Given the description of an element on the screen output the (x, y) to click on. 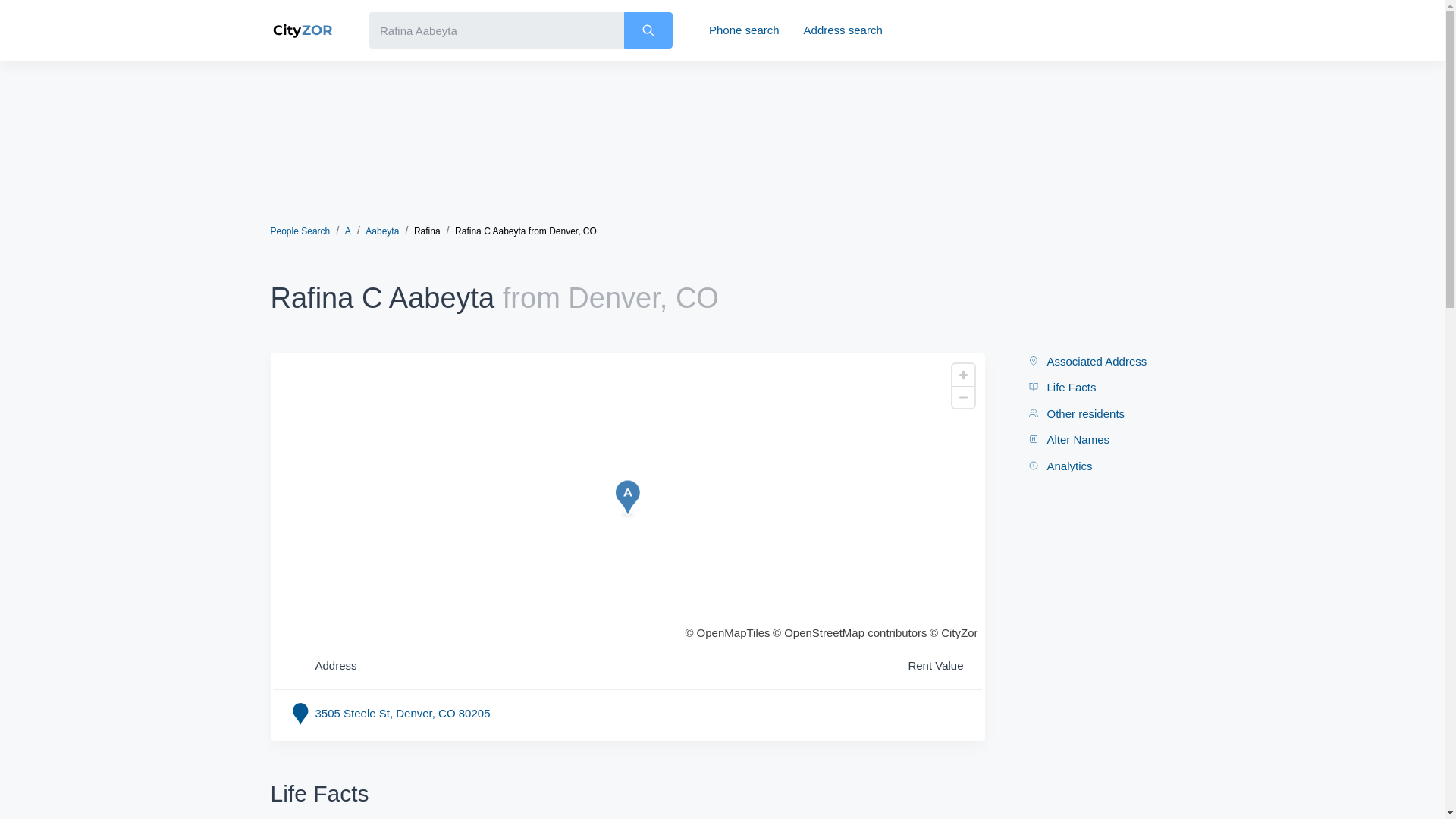
Other residents (1075, 414)
Aabeyta (381, 231)
Rafina Aabeyta (496, 30)
People Search (299, 231)
Phone search (744, 30)
Alter Names (1068, 439)
Analytics (1059, 466)
Zoom out (963, 396)
Life Facts (1061, 387)
Address search (843, 30)
Associated Address (1087, 361)
3505 Steele St, Denver, CO 80205 (402, 713)
Zoom in (963, 374)
